Given the description of an element on the screen output the (x, y) to click on. 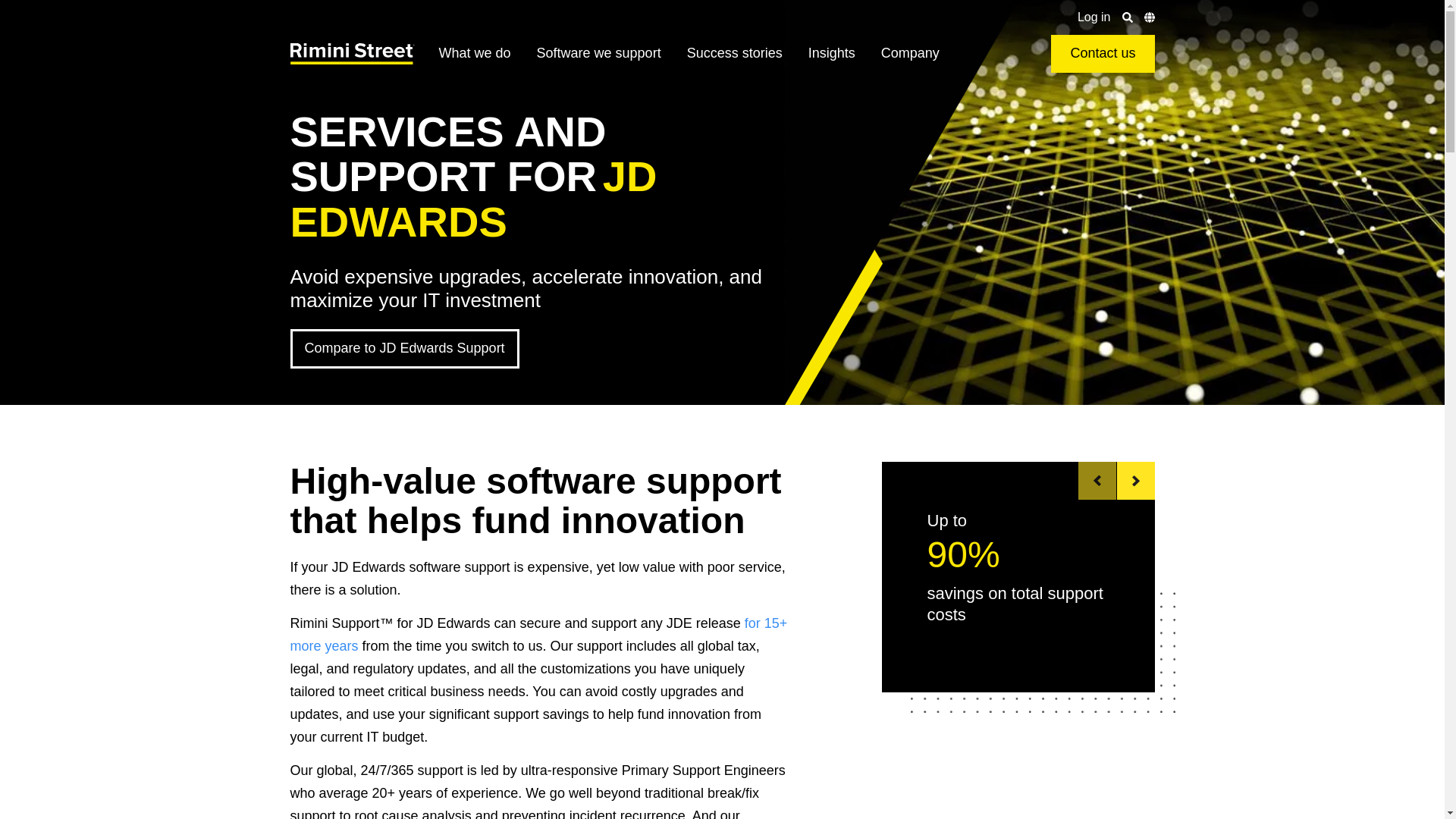
Log in (1093, 16)
What we do (475, 53)
